Given the description of an element on the screen output the (x, y) to click on. 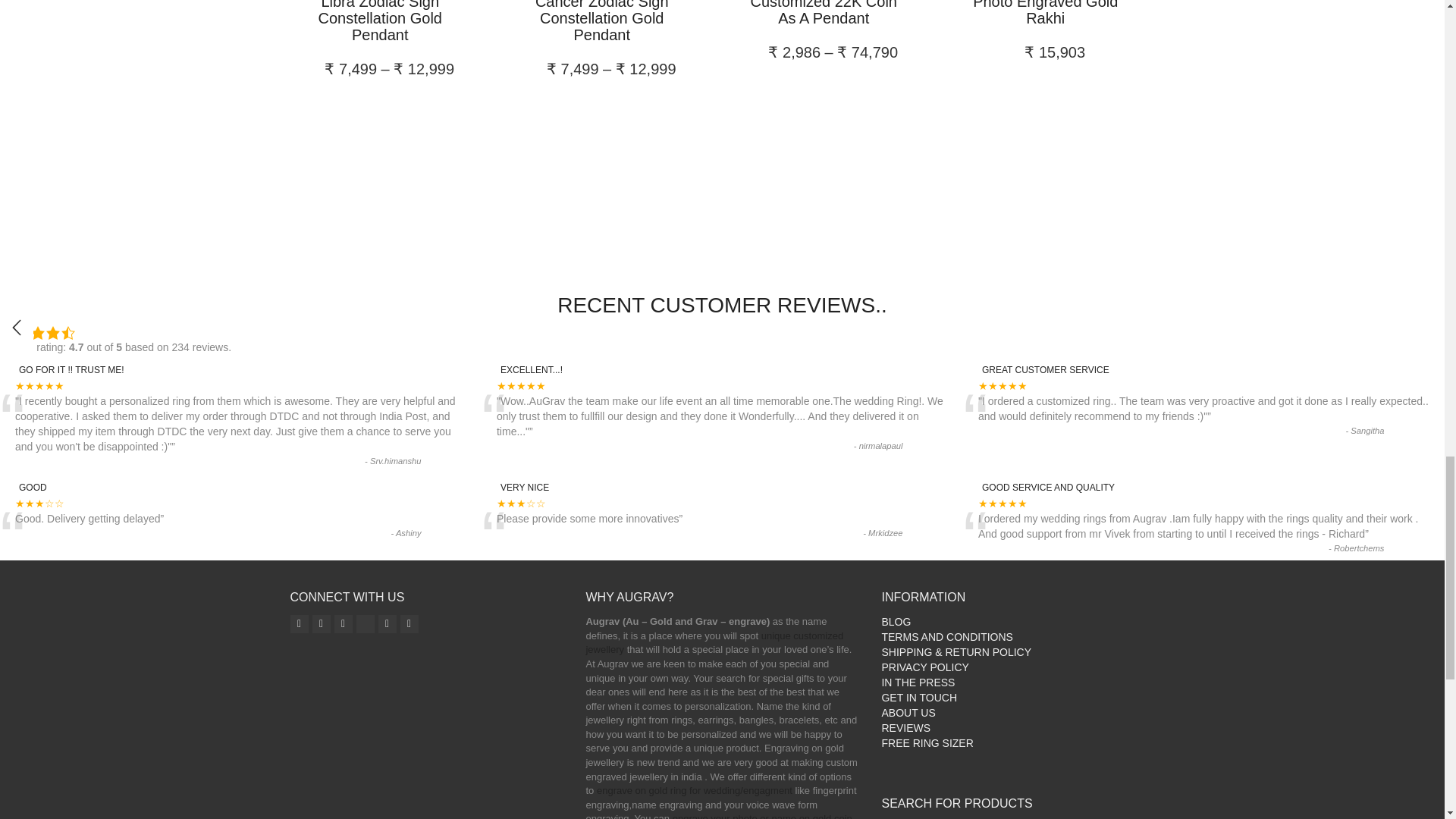
LinkedIn (409, 624)
Facebook (321, 624)
Pinterest (386, 624)
Instagram (298, 624)
Twitter (342, 624)
